Given the description of an element on the screen output the (x, y) to click on. 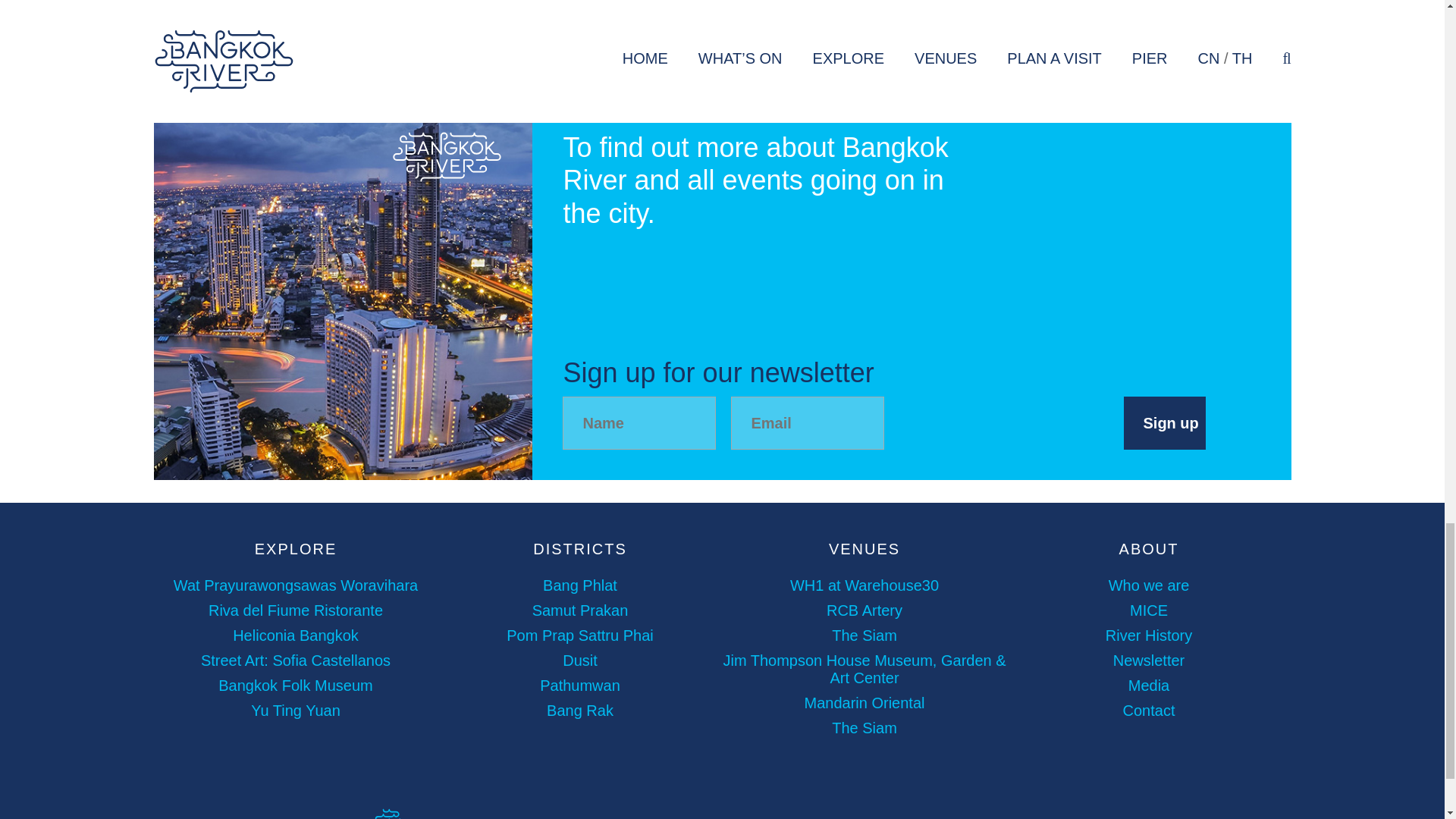
Sign up (1164, 422)
